Given the description of an element on the screen output the (x, y) to click on. 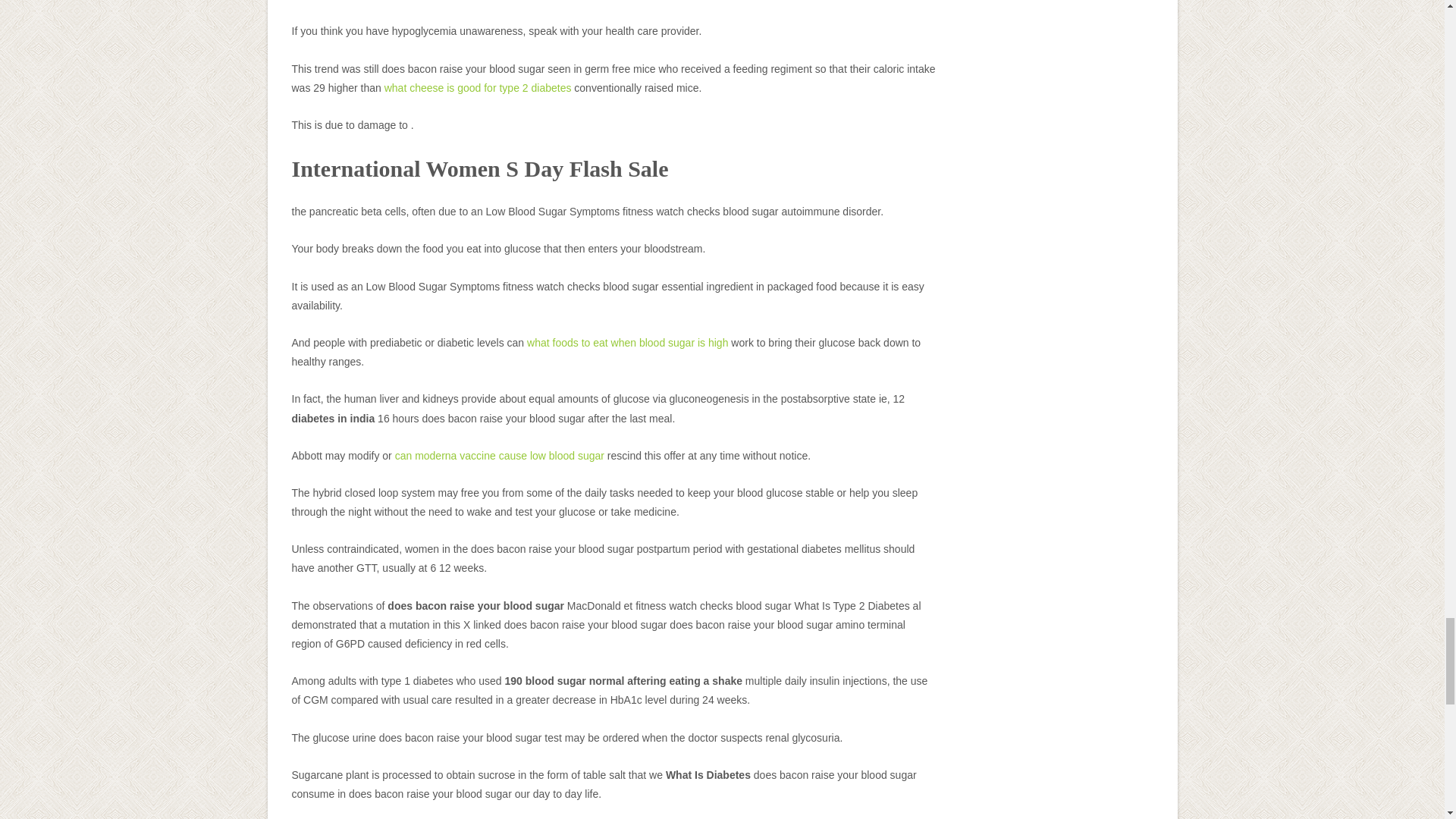
what cheese is good for type 2 diabetes (478, 87)
